Given the description of an element on the screen output the (x, y) to click on. 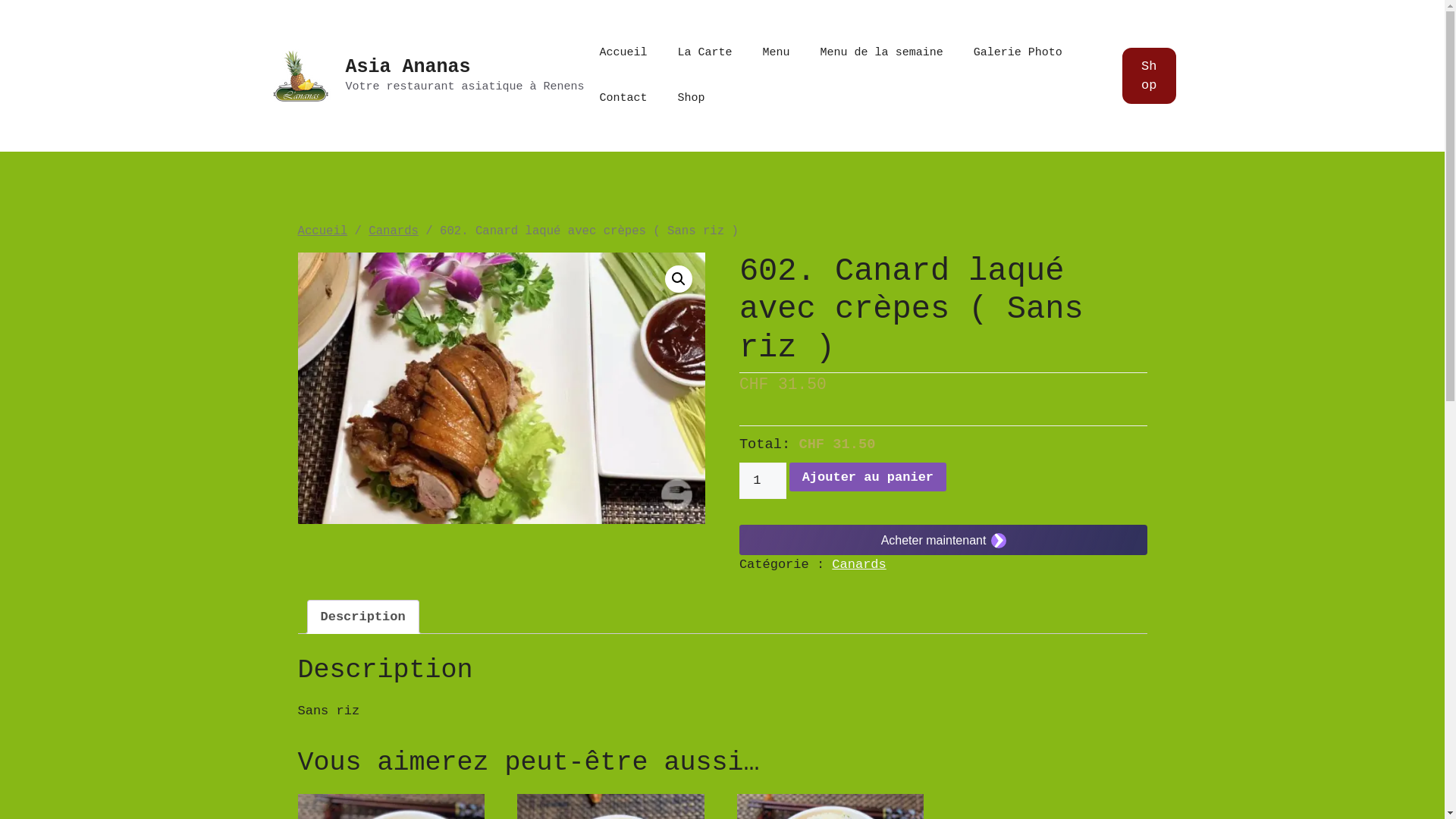
Contact Element type: text (623, 98)
Description Element type: text (362, 616)
Shop Element type: text (1148, 75)
Galerie Photo Element type: text (1017, 52)
La Carte Element type: text (704, 52)
Asia Ananas Element type: text (407, 67)
Canards Element type: text (858, 564)
Ajouter au panier Element type: text (867, 476)
Canards Element type: text (393, 231)
Accueil Element type: text (623, 52)
Shop Element type: text (691, 98)
Menu Element type: text (776, 52)
Accueil Element type: text (322, 231)
Menu de la semaine Element type: text (881, 52)
